Given the description of an element on the screen output the (x, y) to click on. 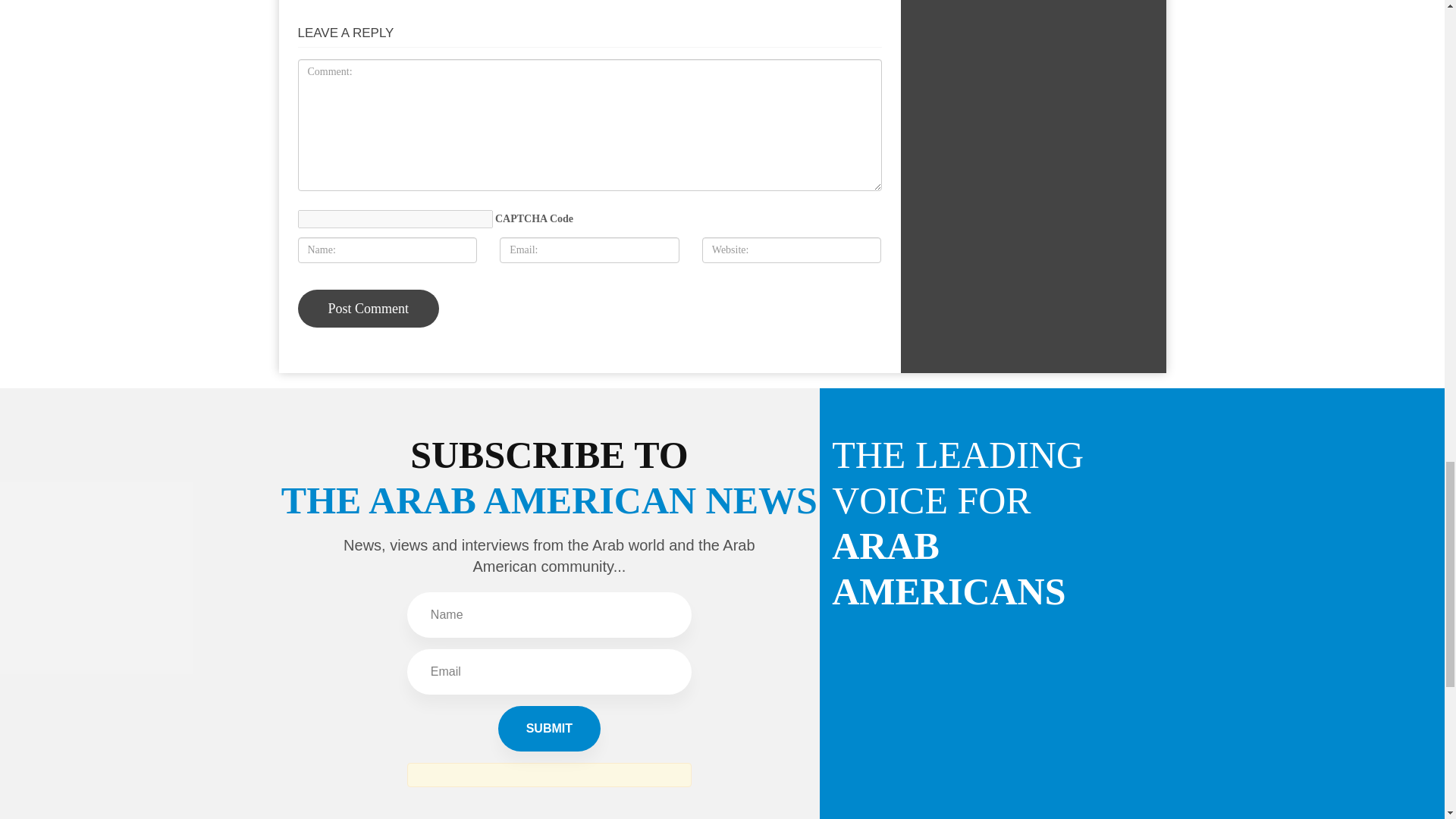
Post Comment (368, 308)
Submit (548, 728)
